Given the description of an element on the screen output the (x, y) to click on. 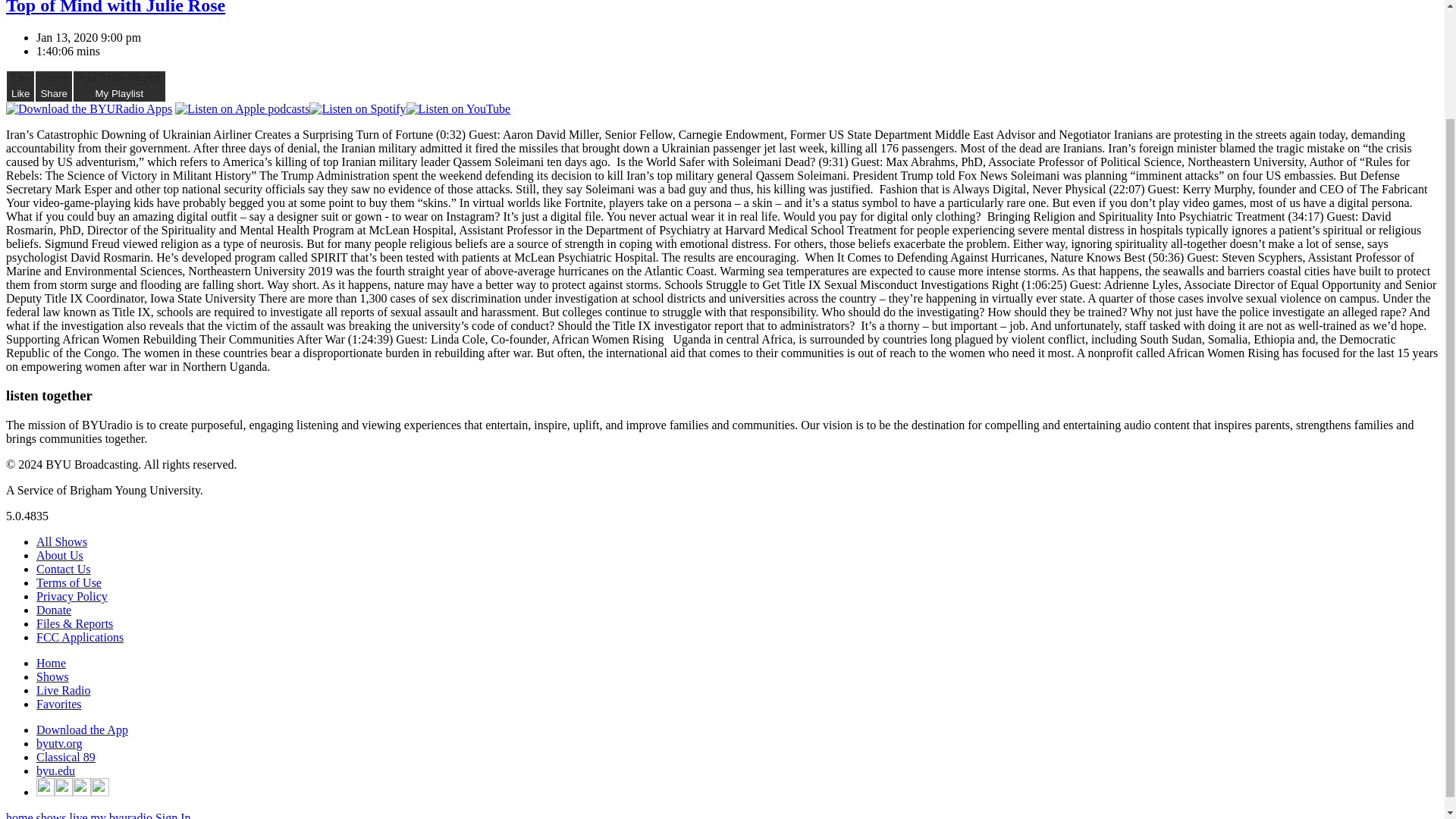
byutv.org (58, 743)
FCC Applications (79, 636)
All Shows (61, 541)
About Us (59, 554)
byu.edu (55, 770)
Listen on Apple podcasts (241, 109)
Shows (52, 676)
Favorites (58, 703)
Listen on YouTube (458, 109)
Home (50, 662)
